Given the description of an element on the screen output the (x, y) to click on. 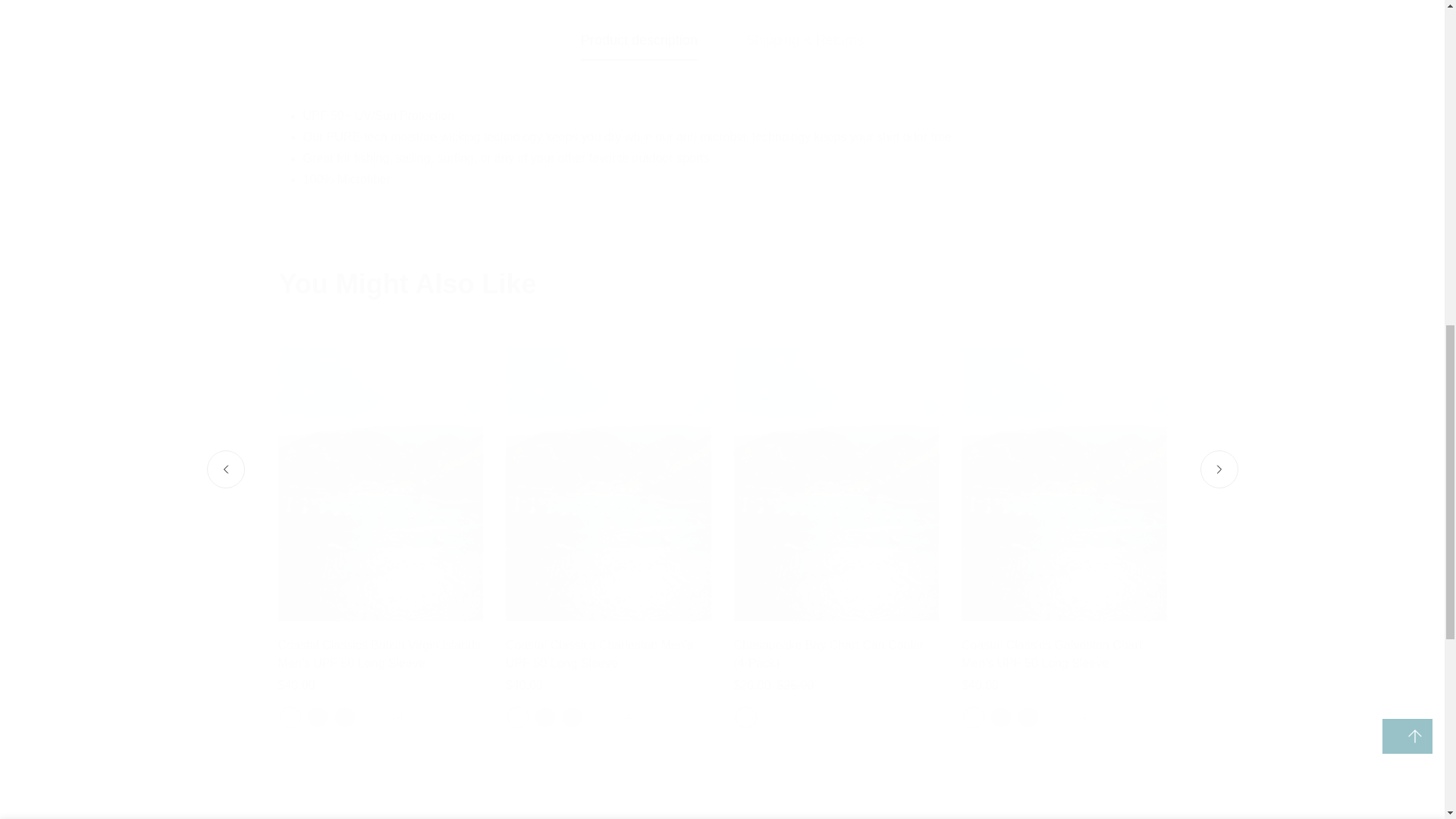
1 (966, 28)
You Might Also Like (722, 284)
